Given the description of an element on the screen output the (x, y) to click on. 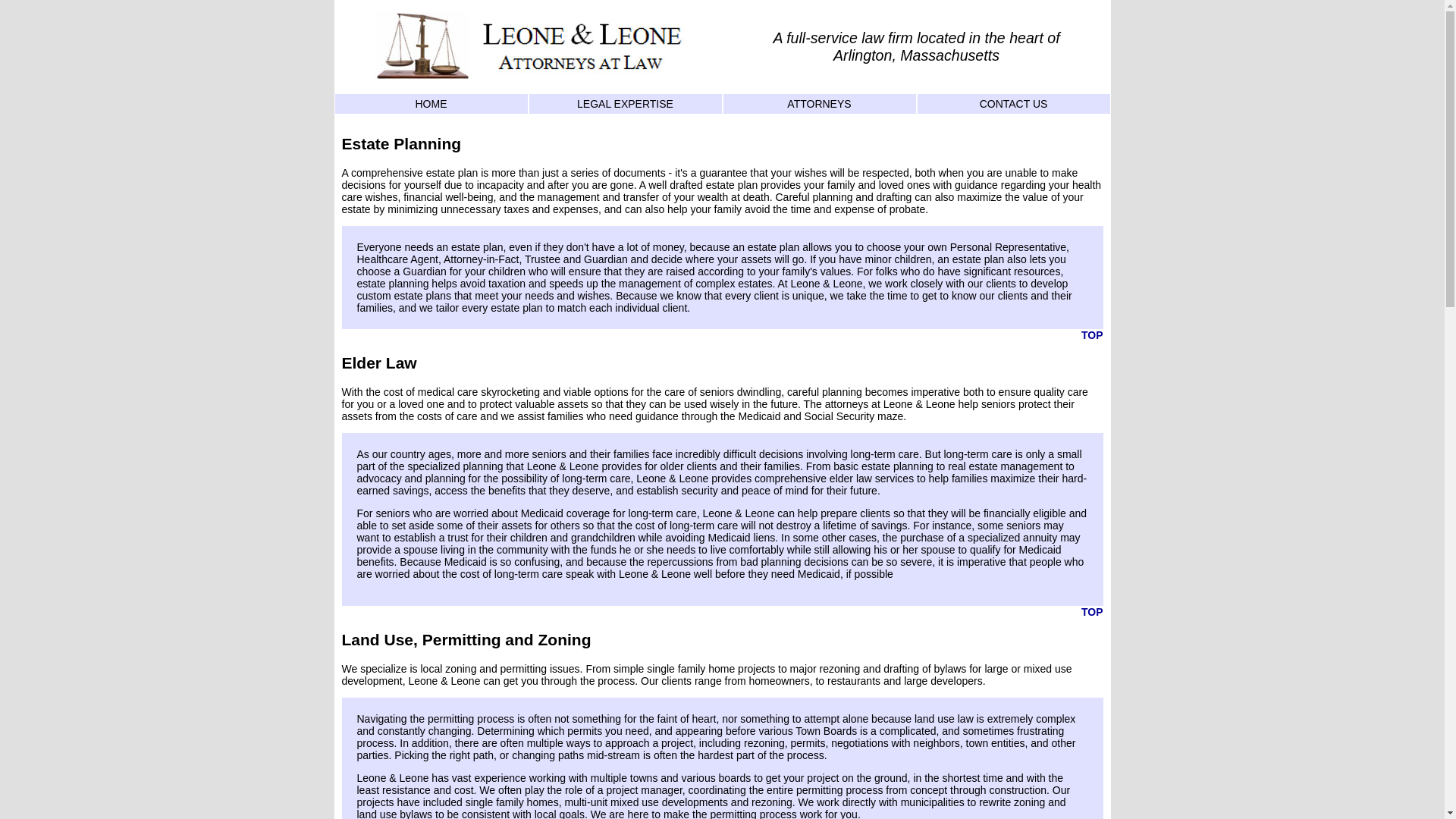
TOP (1092, 335)
HOME (430, 103)
CONTACT US (1012, 103)
LEGAL EXPERTISE (624, 103)
TOP (1092, 612)
ATTORNEYS (818, 103)
